Given the description of an element on the screen output the (x, y) to click on. 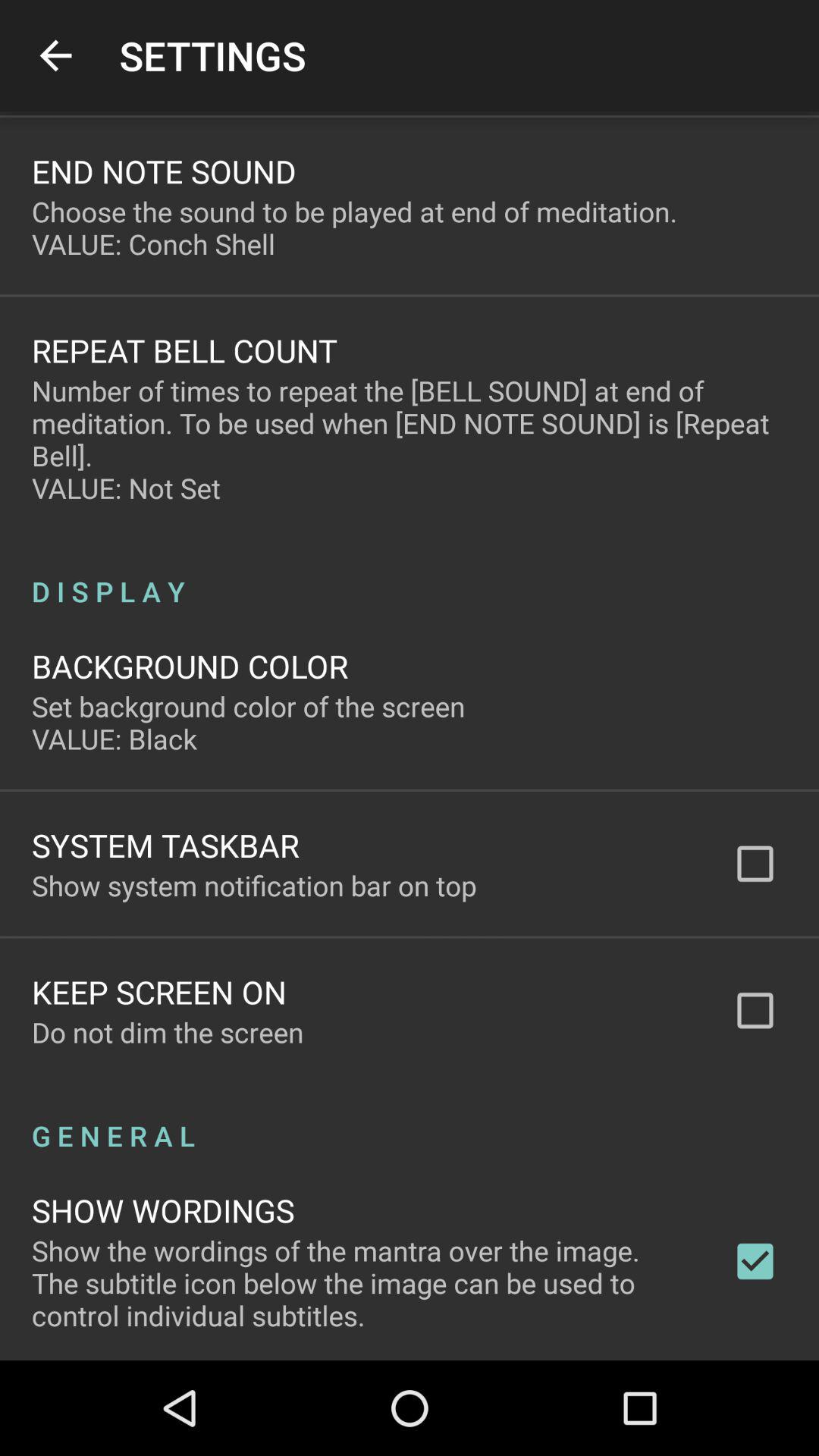
click item above d i s icon (409, 438)
